Given the description of an element on the screen output the (x, y) to click on. 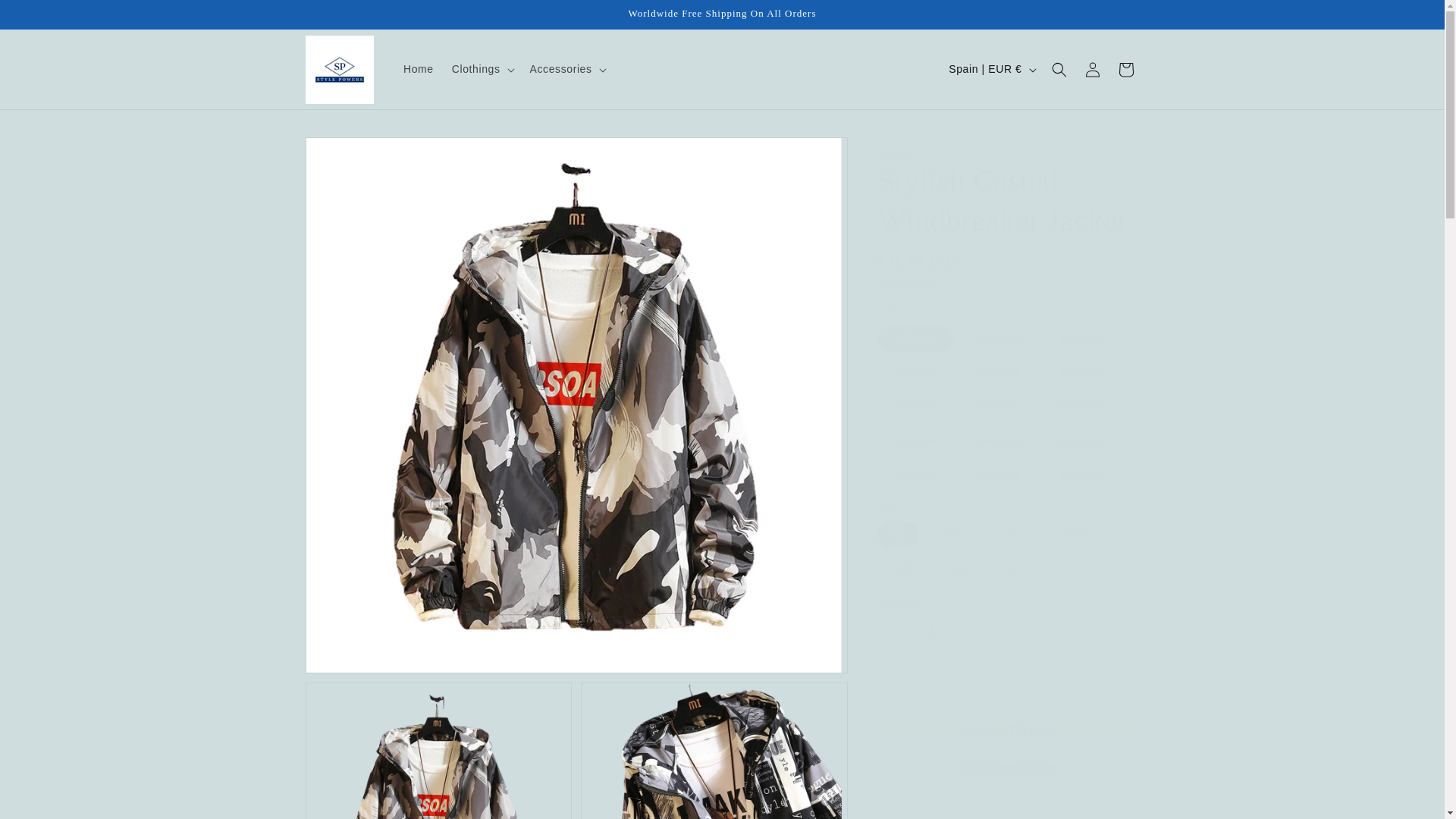
Home (418, 69)
Open media 2 in modal (438, 750)
Open media 3 in modal (713, 750)
